Given the description of an element on the screen output the (x, y) to click on. 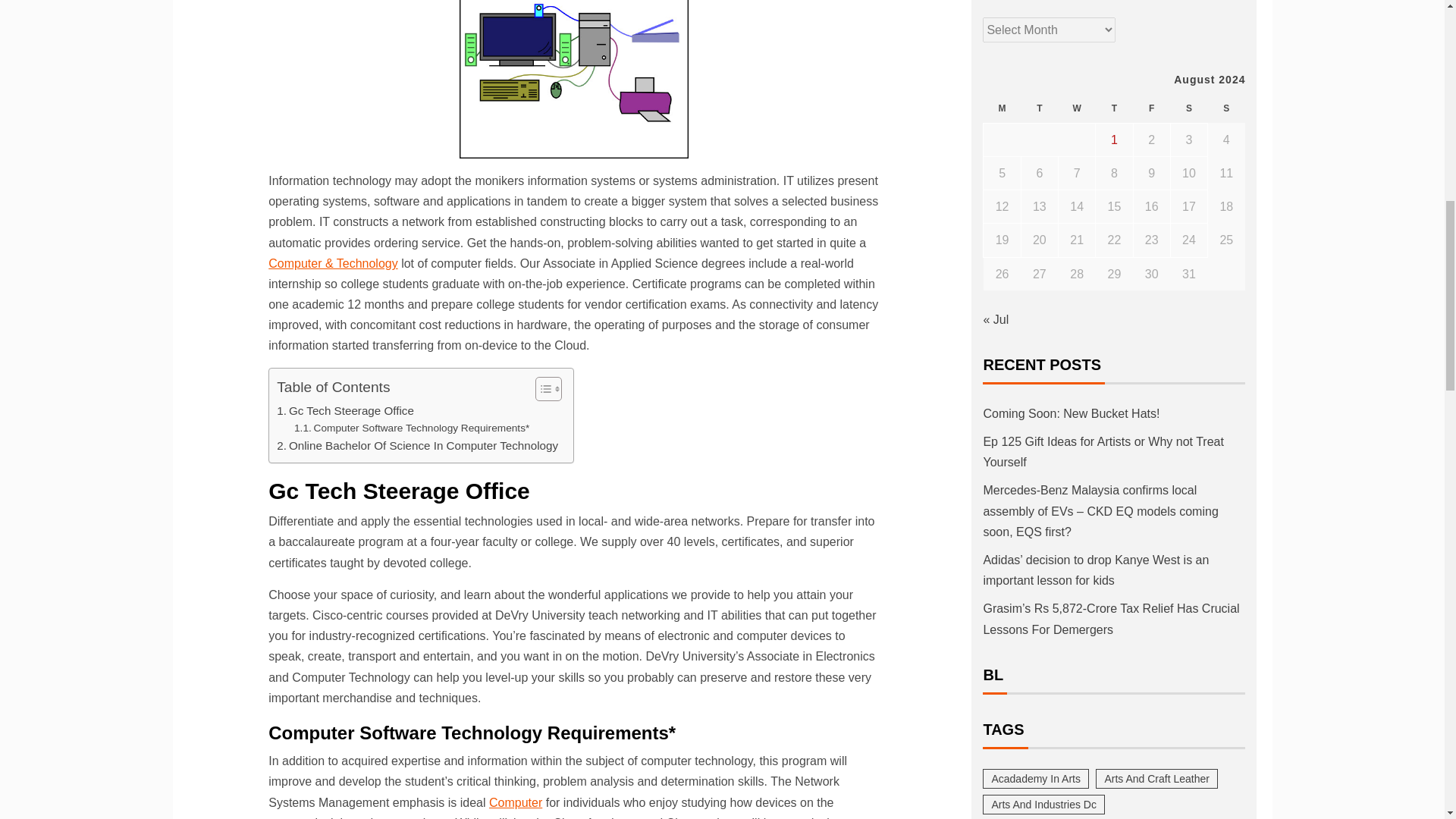
Wednesday (1077, 108)
Monday (1002, 108)
Gc Tech Steerage Office (344, 411)
Online Bachelor Of Science In Computer Technology (416, 445)
Friday (1151, 108)
Online Bachelor Of Science In Computer Technology (416, 445)
Thursday (1114, 108)
Computer (515, 802)
Tuesday (1039, 108)
